Given the description of an element on the screen output the (x, y) to click on. 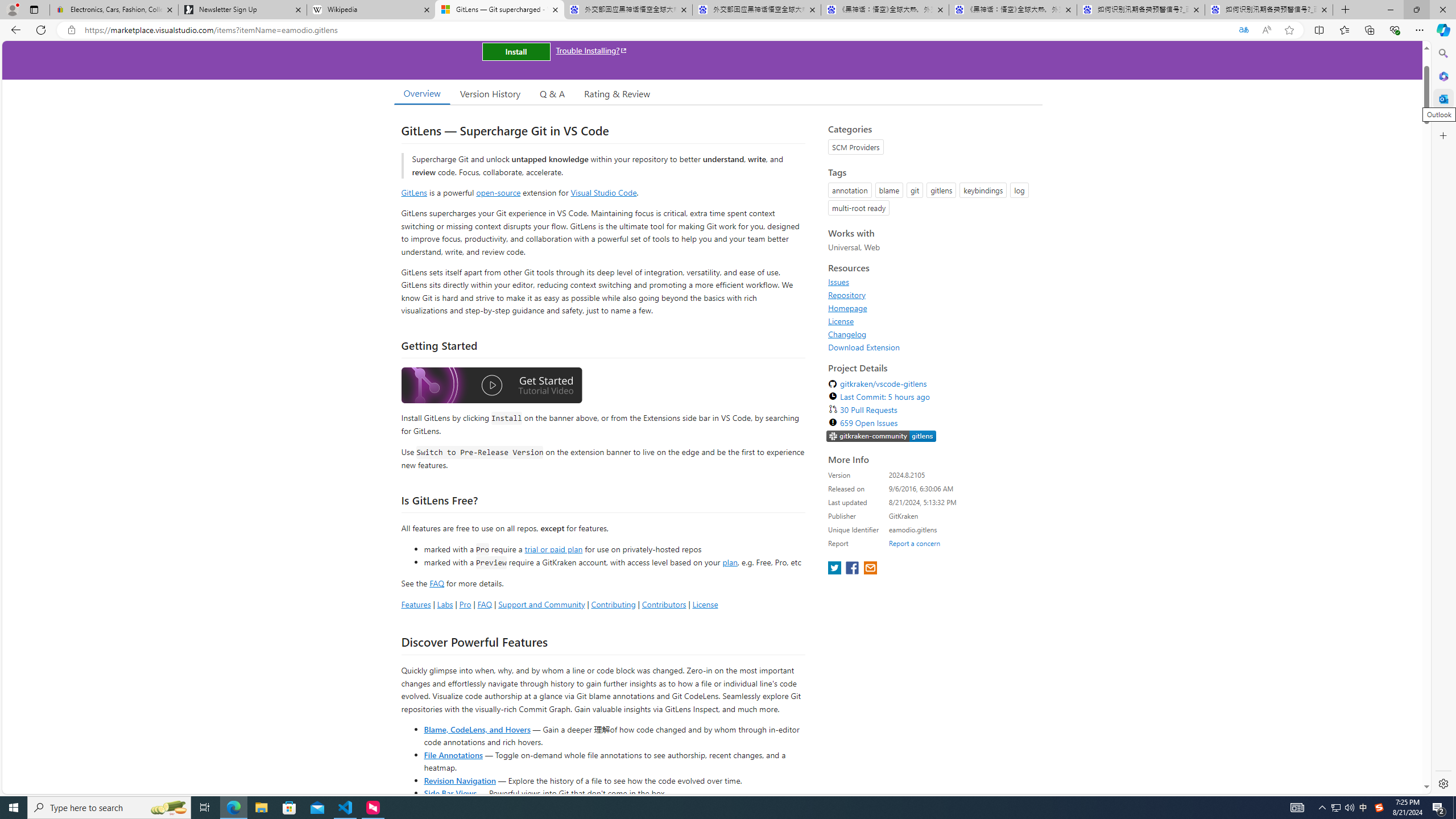
share extension on email (869, 568)
GitLens (414, 192)
Changelog (931, 333)
Install (515, 51)
